Given the description of an element on the screen output the (x, y) to click on. 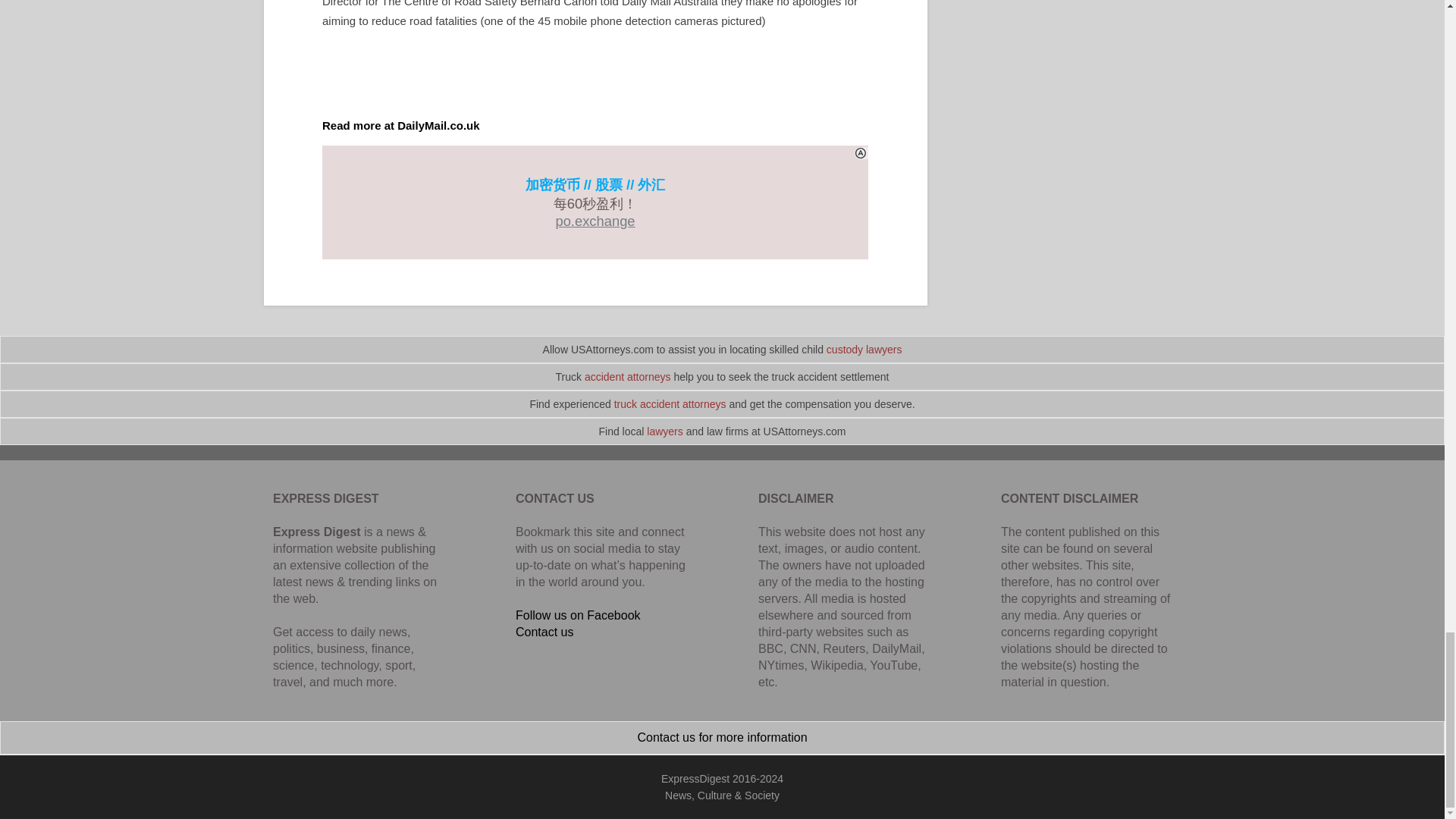
custody lawyers (864, 349)
lawyers (664, 431)
accident attorneys (628, 377)
Read more at DailyMail.co.uk (400, 124)
truck accident attorneys (670, 404)
